Given the description of an element on the screen output the (x, y) to click on. 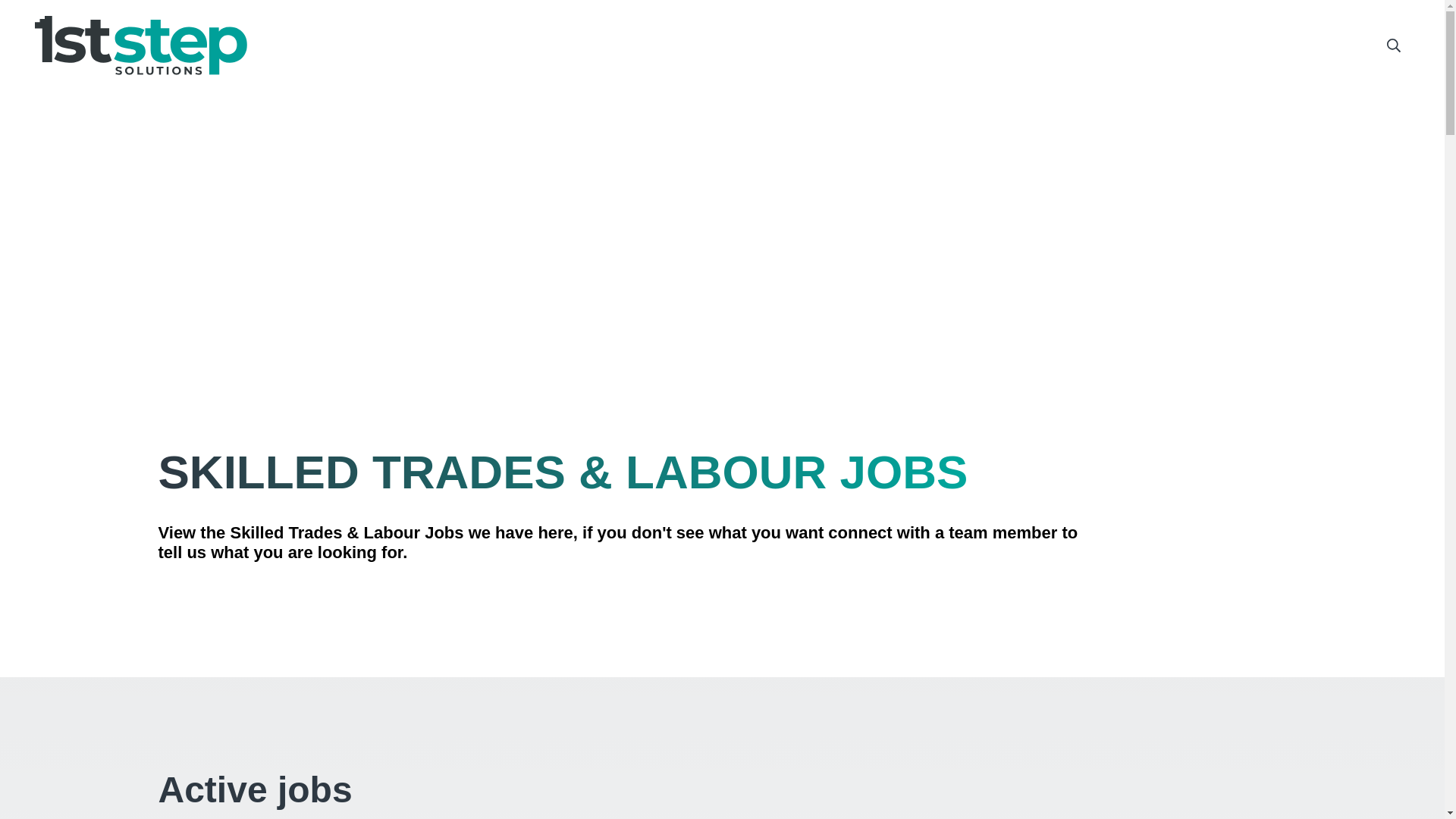
Search (1393, 45)
